Given the description of an element on the screen output the (x, y) to click on. 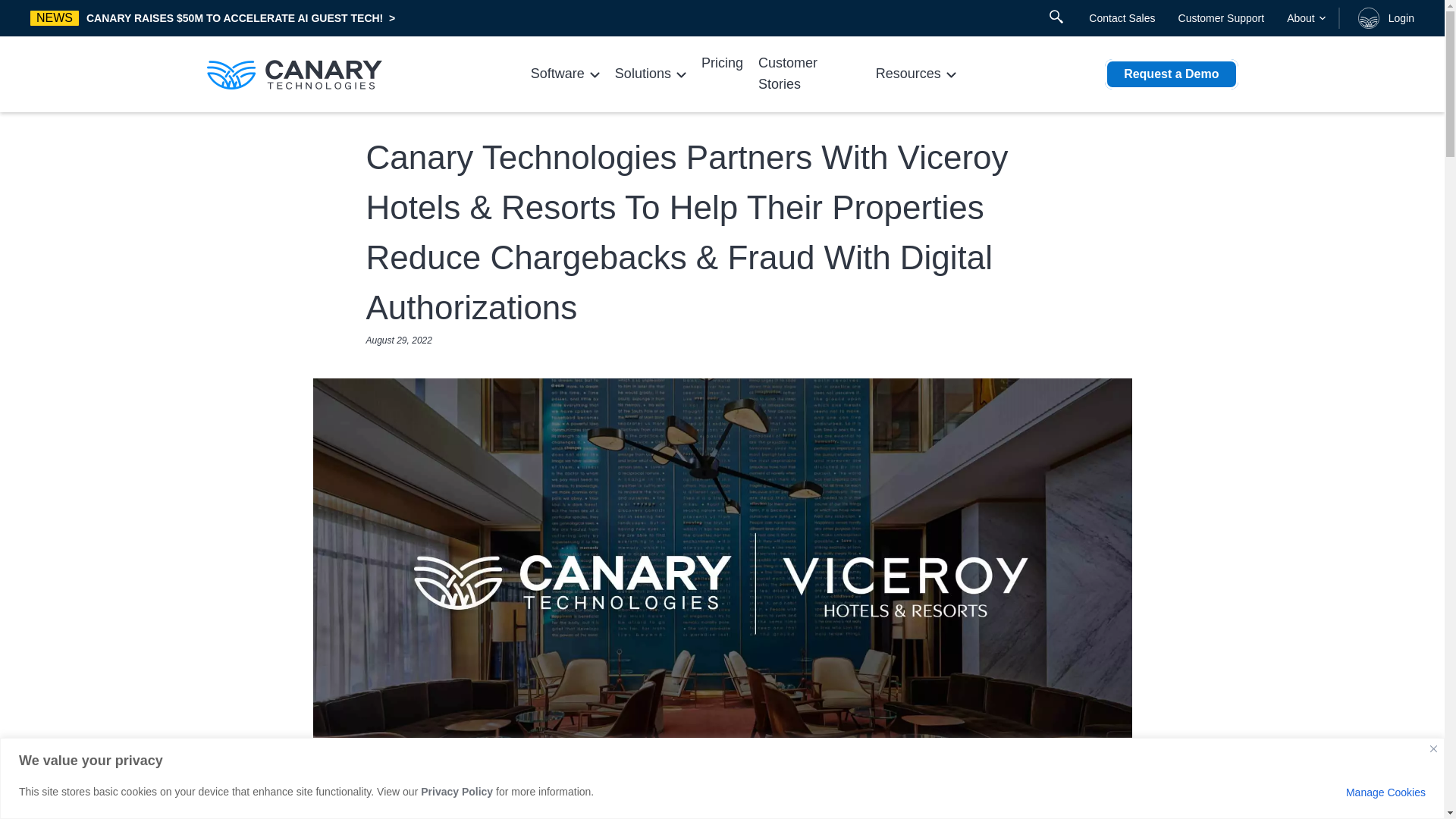
Privacy Policy (456, 791)
Login (1382, 17)
Customer Support (1221, 18)
Customer Stories (809, 74)
Manage Cookies (1385, 791)
Contact Sales (1121, 18)
Request a Demo (1171, 73)
